Given the description of an element on the screen output the (x, y) to click on. 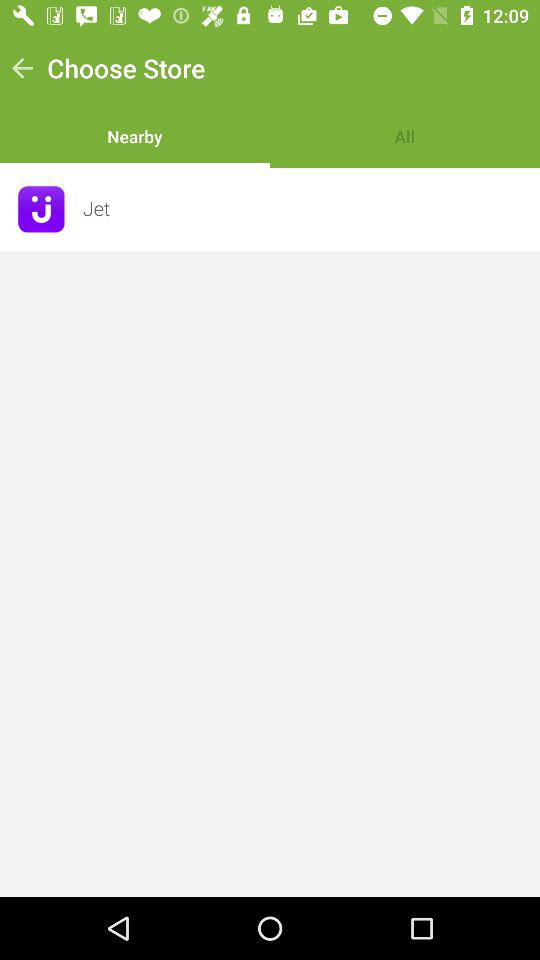
open icon above nearby icon (126, 67)
